Given the description of an element on the screen output the (x, y) to click on. 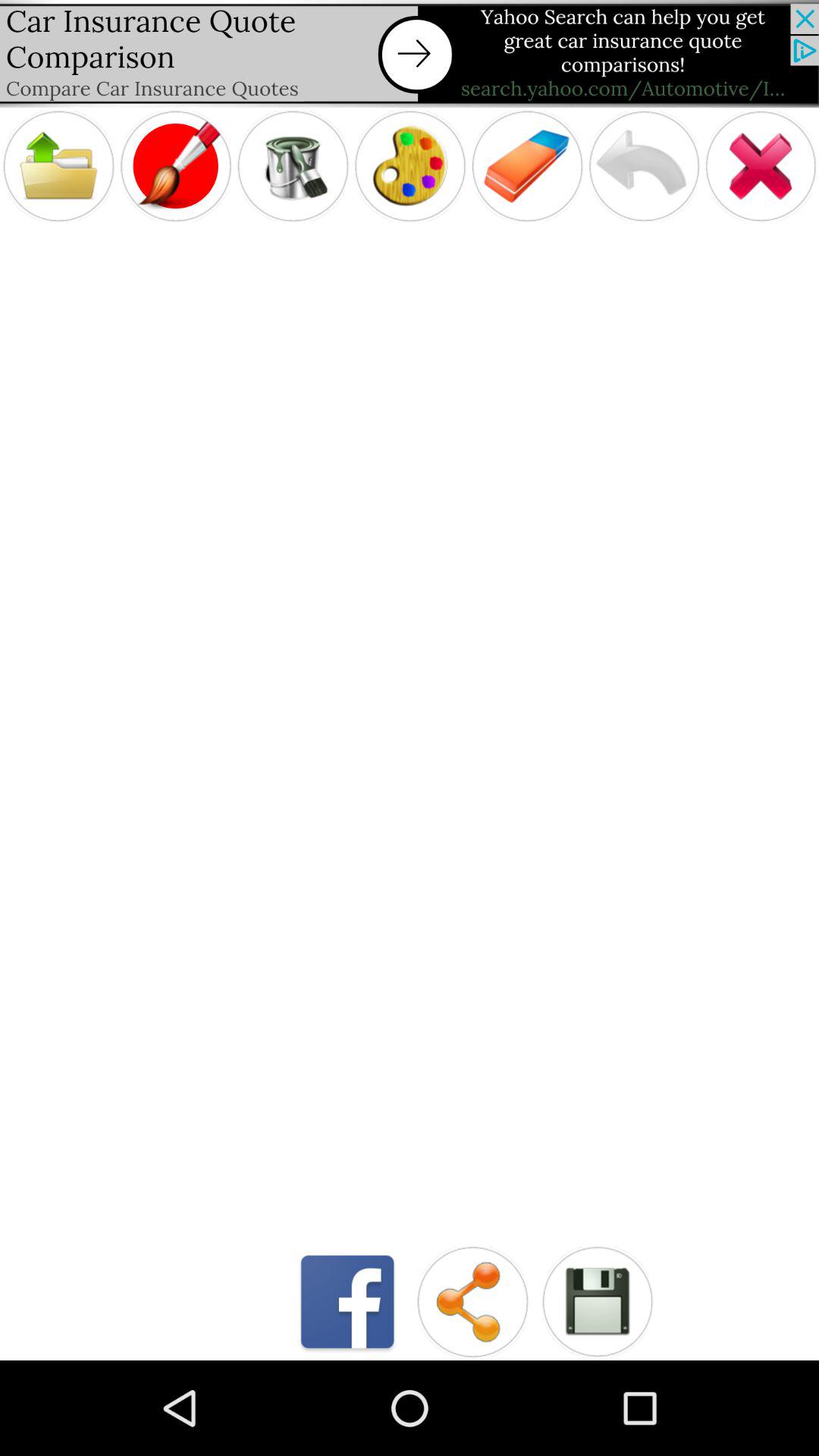
eraser (526, 165)
